Given the description of an element on the screen output the (x, y) to click on. 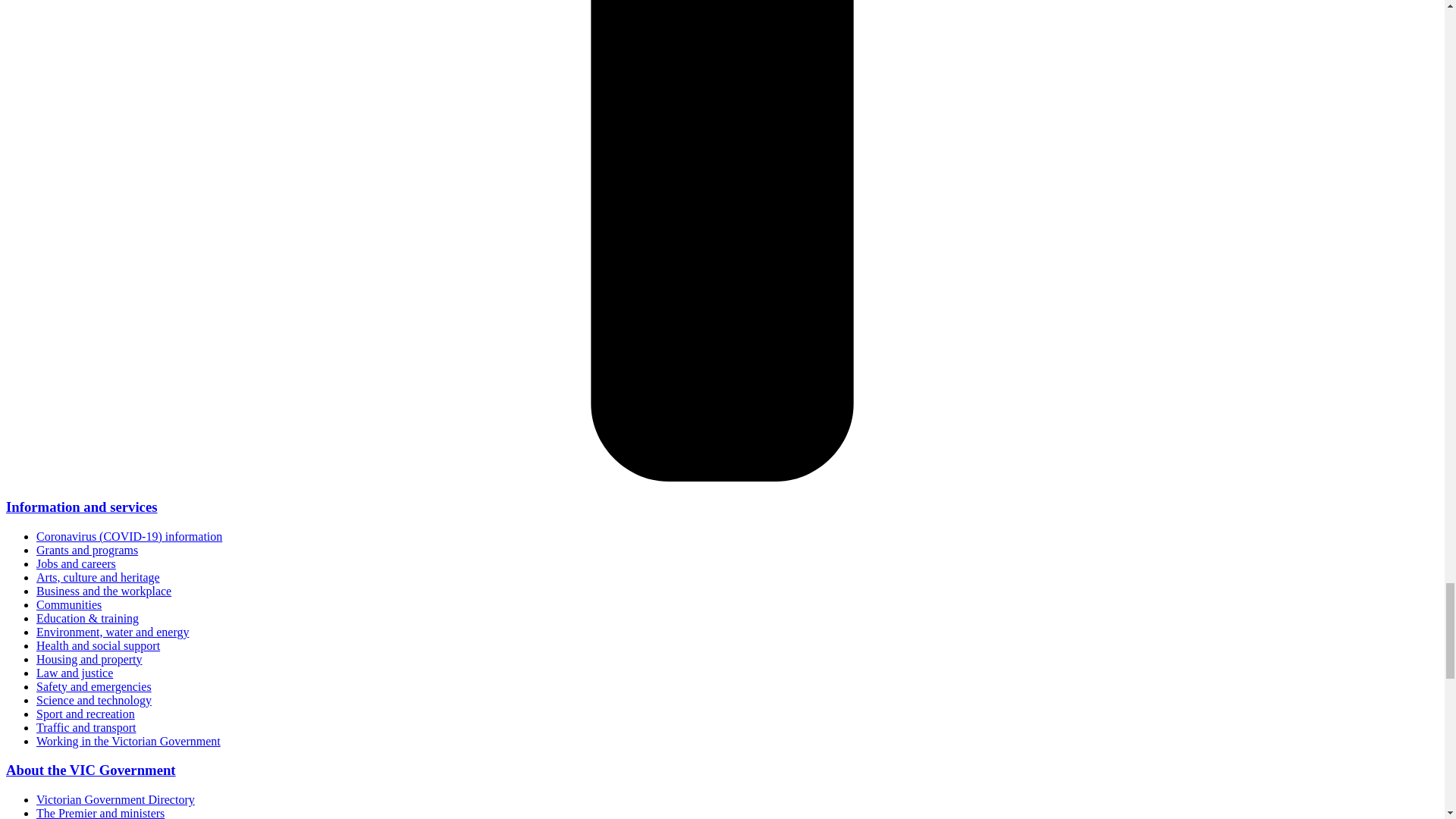
Business and the workplace (103, 590)
Law and justice (74, 672)
Communities (68, 604)
Science and technology (93, 699)
Housing and property (89, 658)
The Premier and ministers (100, 812)
Jobs and careers (76, 563)
Information and services (81, 506)
Grants and programs (87, 549)
Environment, water and energy (112, 631)
Victorian Government Directory (115, 799)
About the VIC Government (90, 770)
Traffic and transport (86, 727)
Sport and recreation (85, 713)
Safety and emergencies (93, 686)
